Given the description of an element on the screen output the (x, y) to click on. 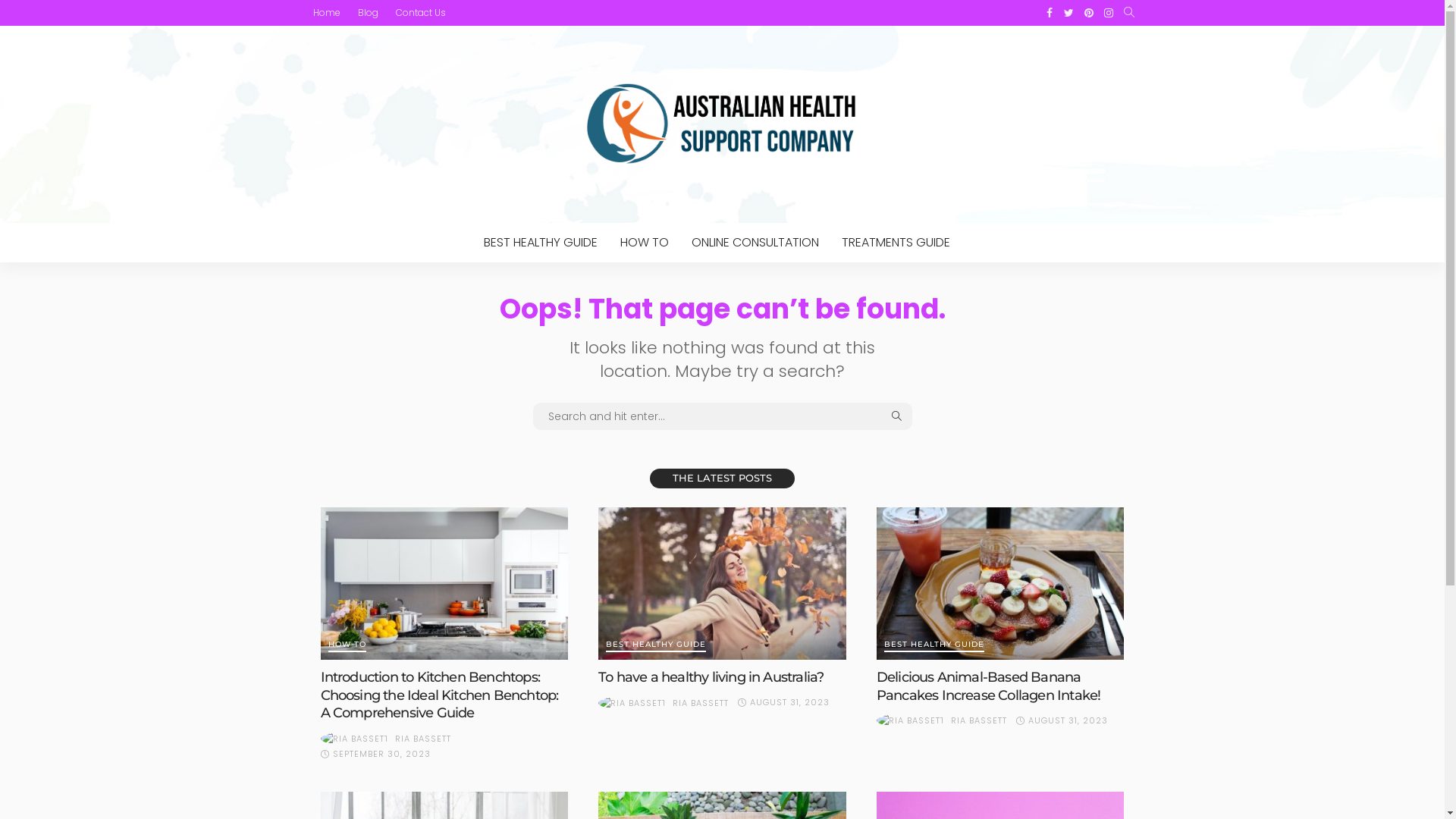
HOW TO Element type: text (346, 646)
HOW TO Element type: text (643, 242)
Blog Element type: text (367, 12)
BEST HEALTHY GUIDE Element type: text (655, 646)
RIA BASSETT Element type: text (978, 720)
BEST HEALTHY GUIDE Element type: text (934, 646)
ONLINE CONSULTATION Element type: text (754, 242)
search Element type: hover (1128, 12)
Contact Us Element type: text (420, 12)
RIA BASSETT Element type: text (700, 702)
RIA BASSETT Element type: text (422, 738)
TREATMENTS GUIDE Element type: text (894, 242)
Home Element type: text (325, 12)
search for: Element type: hover (721, 415)
To have a healthy living in Australia? Element type: hover (722, 583)
To have a healthy living in Australia? Element type: text (710, 676)
BEST HEALTHY GUIDE Element type: text (539, 242)
Australian Health Support company Element type: hover (721, 123)
